Given the description of an element on the screen output the (x, y) to click on. 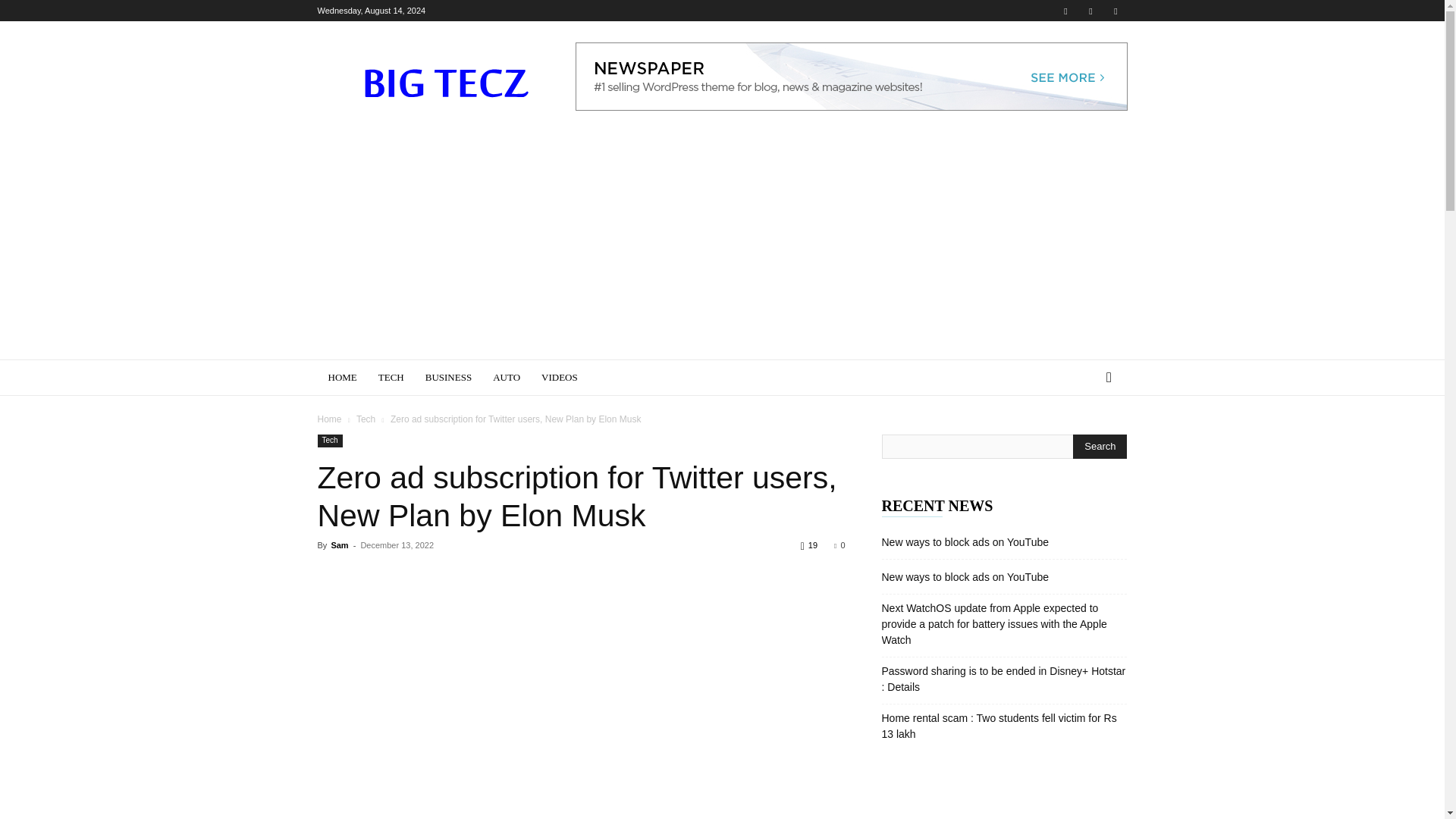
VIDEOS (559, 377)
AUTO (506, 377)
HOME (341, 377)
Search (1085, 437)
Home (328, 419)
Tech (329, 440)
Tech (365, 419)
Twitter (1090, 10)
TECH (391, 377)
